Given the description of an element on the screen output the (x, y) to click on. 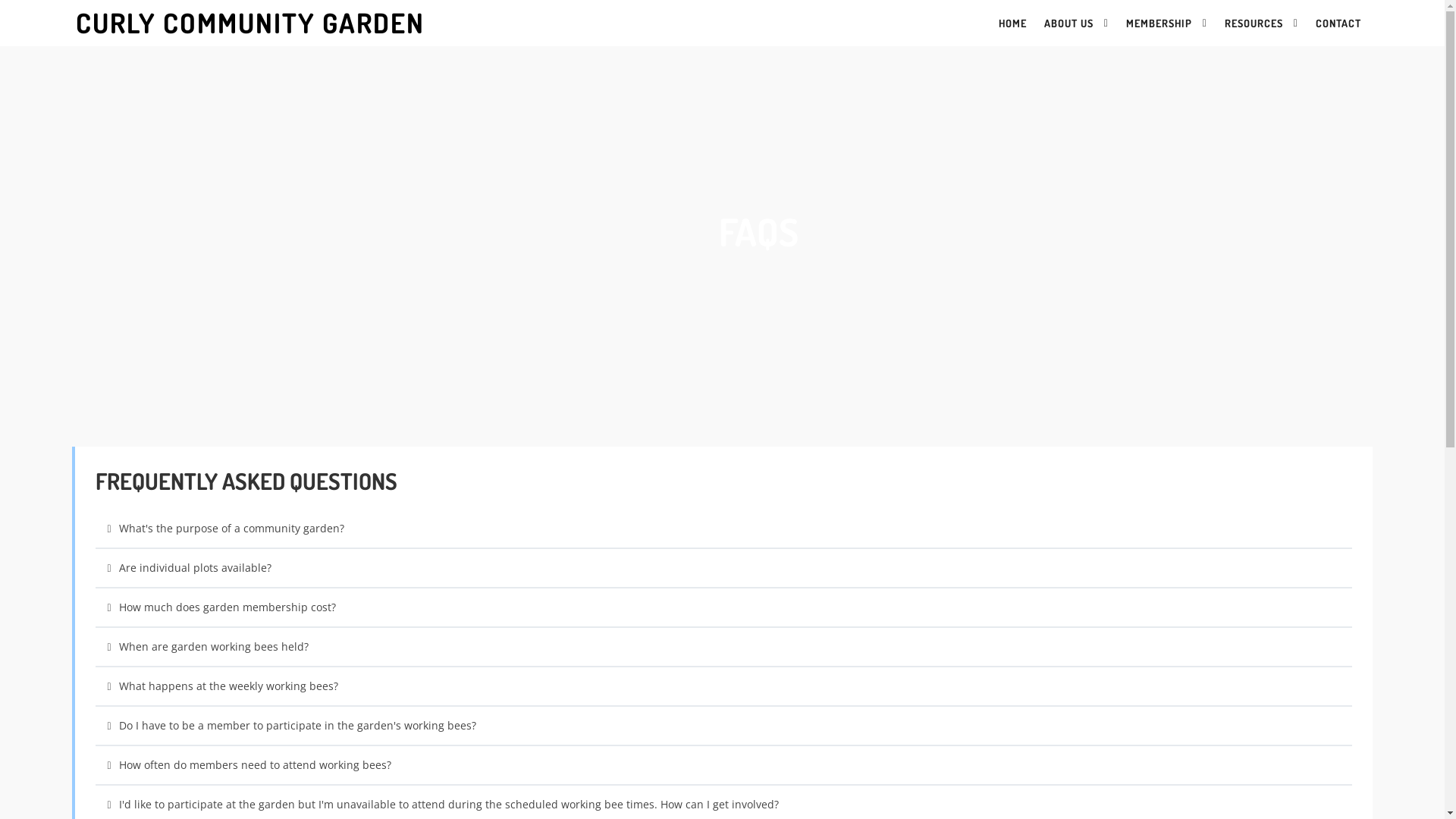
How much does garden membership cost? Element type: text (723, 607)
CURLY COMMUNITY GARDEN Element type: text (396, 22)
How often do members need to attend working bees? Element type: text (723, 765)
ABOUT US Element type: text (1076, 23)
What happens at the weekly working bees? Element type: text (723, 686)
MEMBERSHIP Element type: text (1166, 23)
Are individual plots available? Element type: text (723, 567)
CONTACT Element type: text (1338, 23)
RESOURCES Element type: text (1261, 23)
What's the purpose of a community garden? Element type: text (723, 528)
HOME Element type: text (1012, 23)
When are garden working bees held? Element type: text (723, 646)
